Given the description of an element on the screen output the (x, y) to click on. 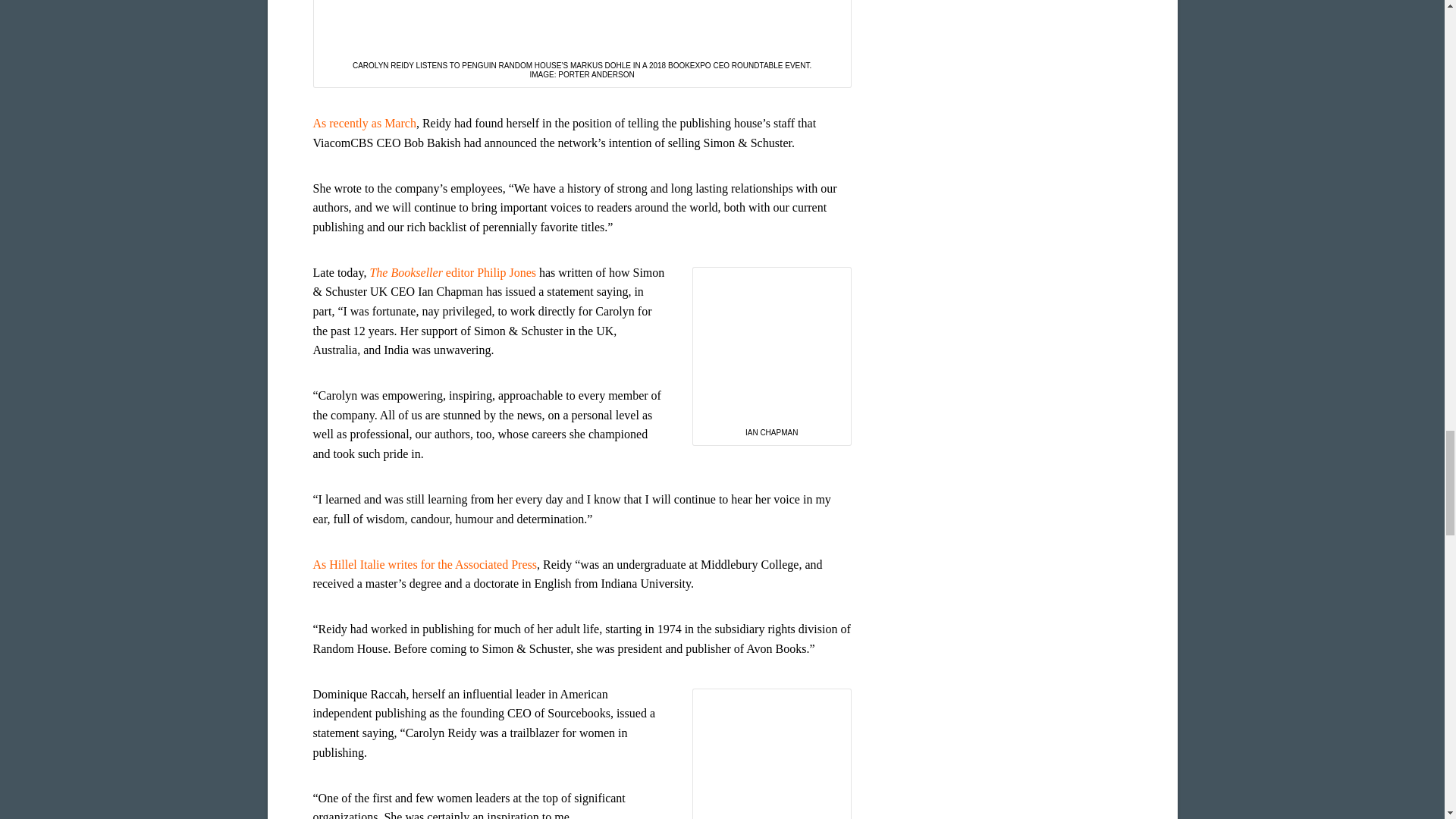
As Hillel Italie writes for the Associated Press (425, 563)
As recently as March (363, 123)
The Bookseller editor Philip Jones (452, 272)
